Given the description of an element on the screen output the (x, y) to click on. 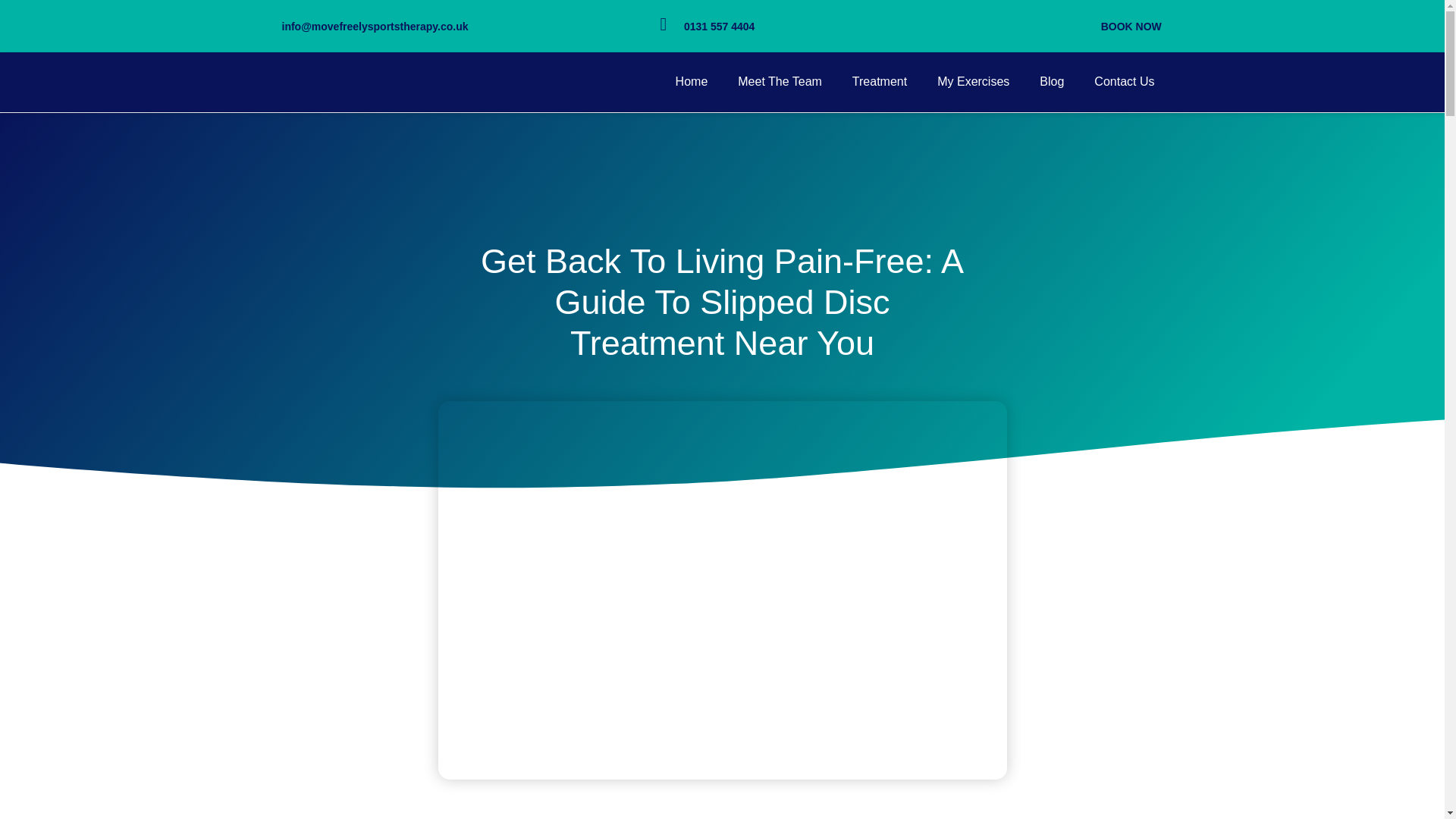
0131 557 4404 (719, 26)
BOOK NOW (1130, 26)
Home (692, 81)
